Given the description of an element on the screen output the (x, y) to click on. 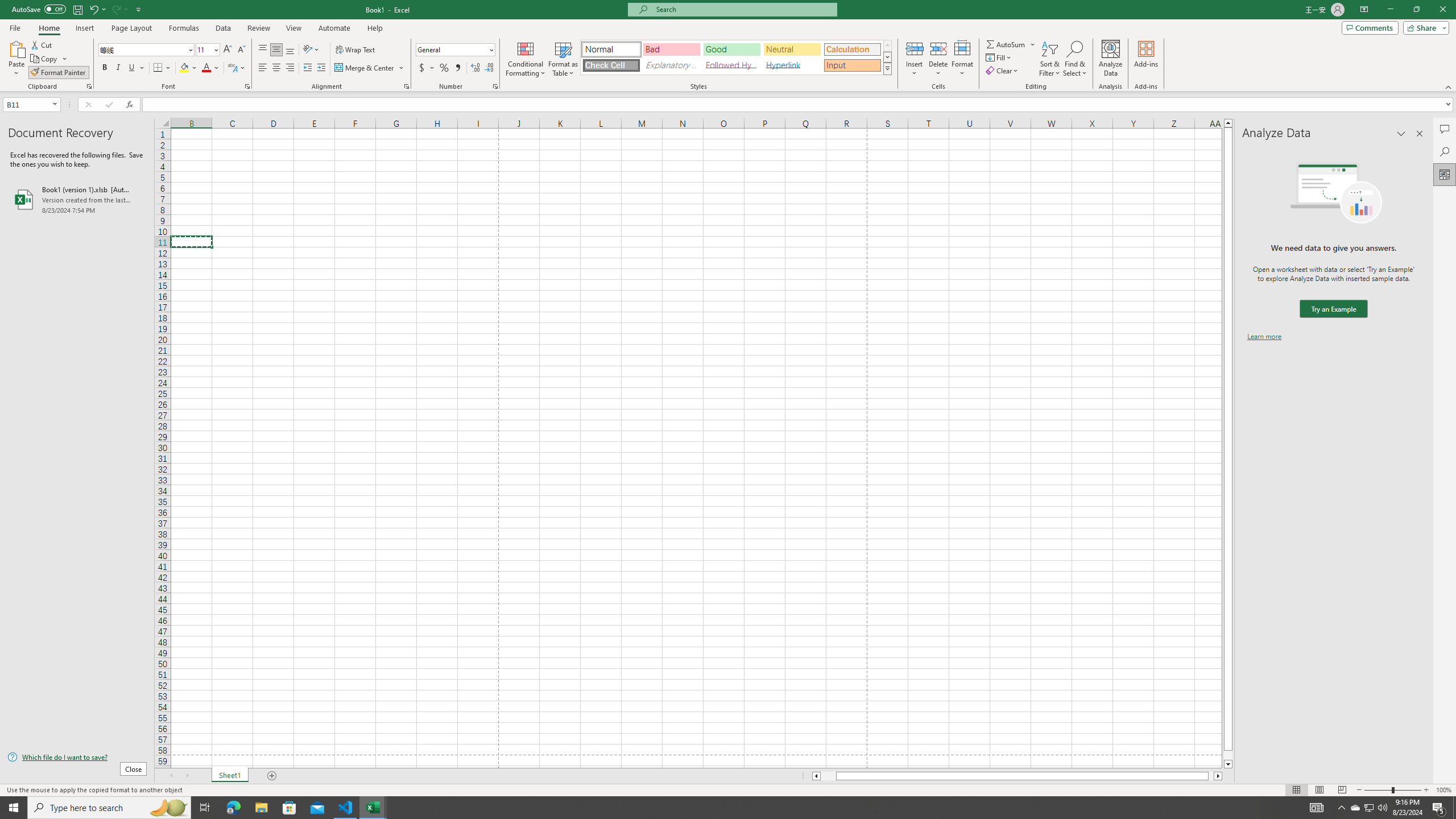
Fill (999, 56)
